Given the description of an element on the screen output the (x, y) to click on. 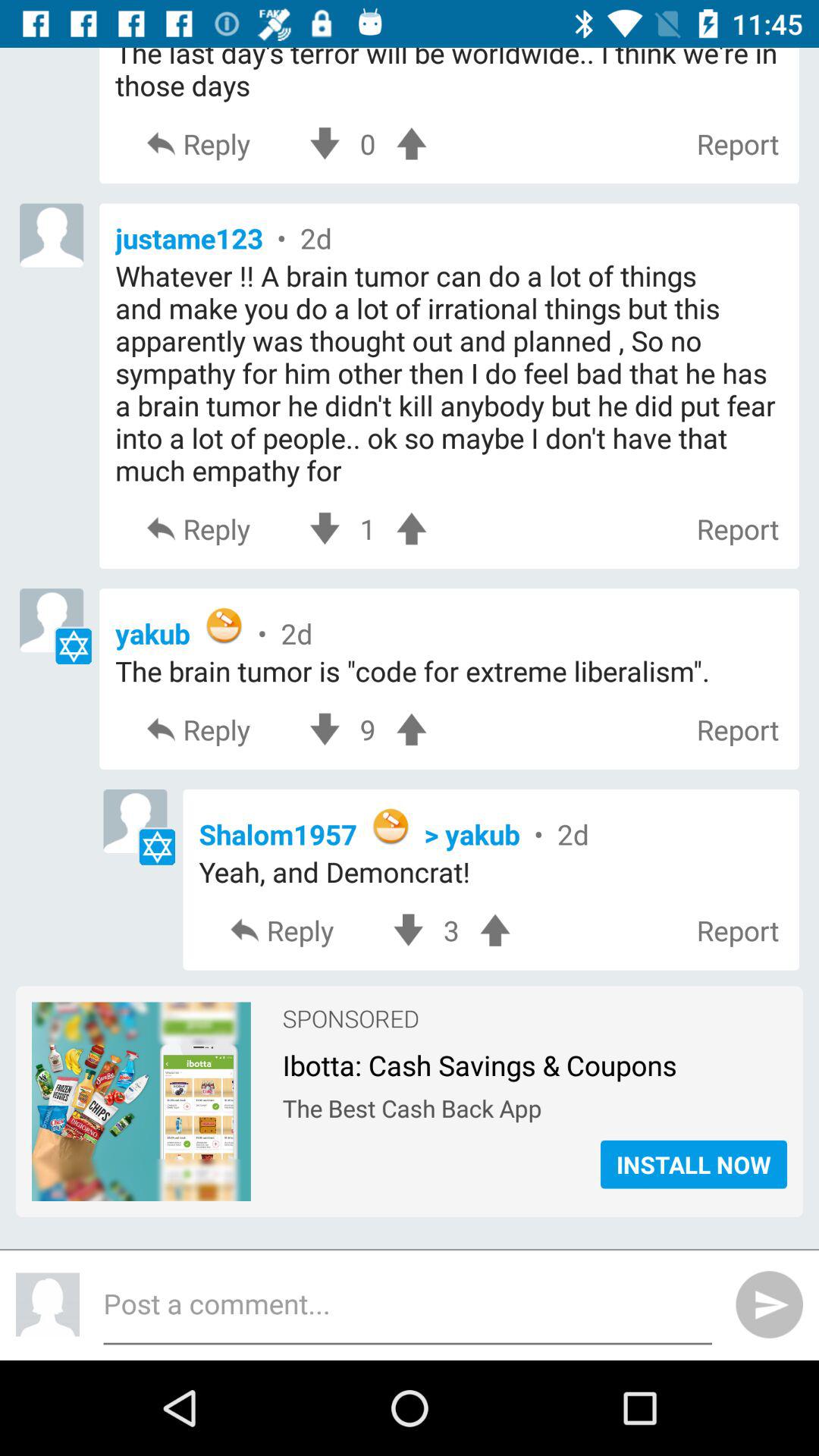
choose the icon above whatever a brain (449, 238)
